Given the description of an element on the screen output the (x, y) to click on. 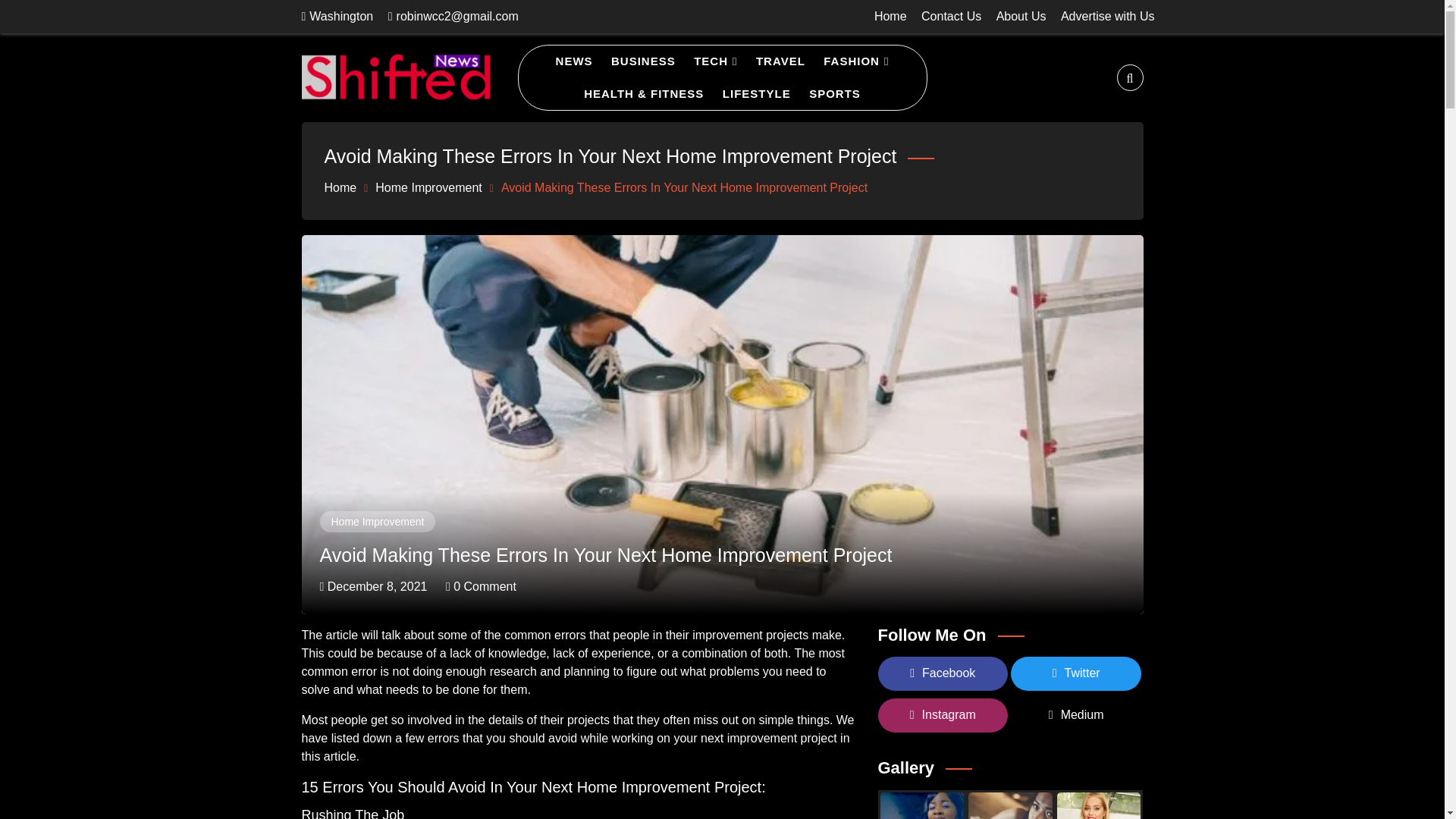
NEWS (573, 61)
Home (891, 15)
TRAVEL (780, 61)
About Us (1020, 15)
Home (340, 187)
FASHION (855, 61)
SPORTS (834, 92)
Contact Us (951, 15)
0 Comment (480, 585)
Search (40, 18)
Home Improvement (428, 187)
LIFESTYLE (755, 92)
Advertise with Us (1107, 15)
Shifted News (355, 161)
